Given the description of an element on the screen output the (x, y) to click on. 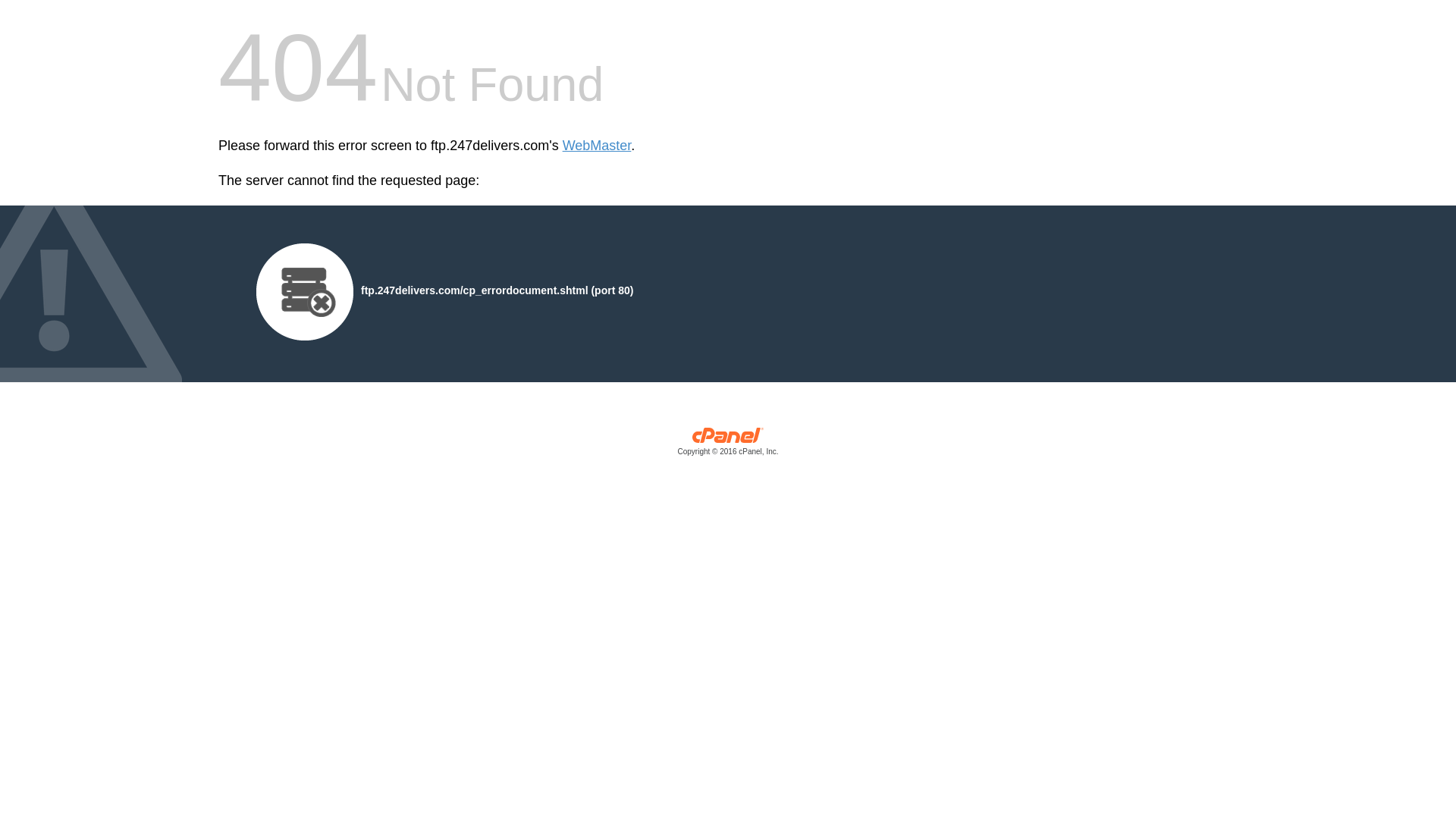
WebMaster Element type: text (596, 145)
